Given the description of an element on the screen output the (x, y) to click on. 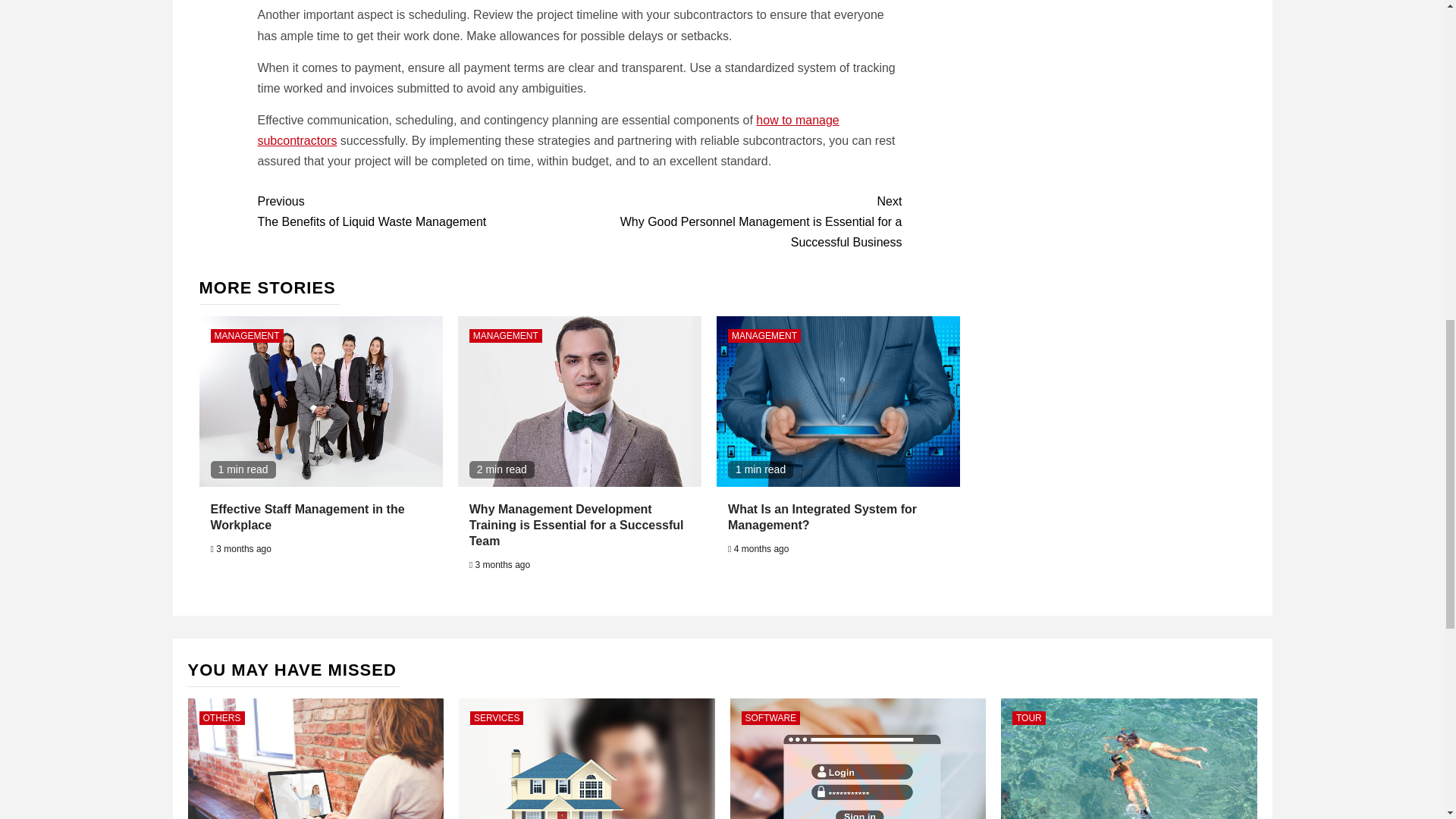
What Is an Integrated System for Management? (822, 516)
Effective Staff Management in the Workplace (307, 516)
SERVICES (496, 717)
how to manage subcontractors (547, 130)
TOUR (1028, 717)
MANAGEMENT (504, 336)
SOFTWARE (770, 717)
MANAGEMENT (764, 336)
